Given the description of an element on the screen output the (x, y) to click on. 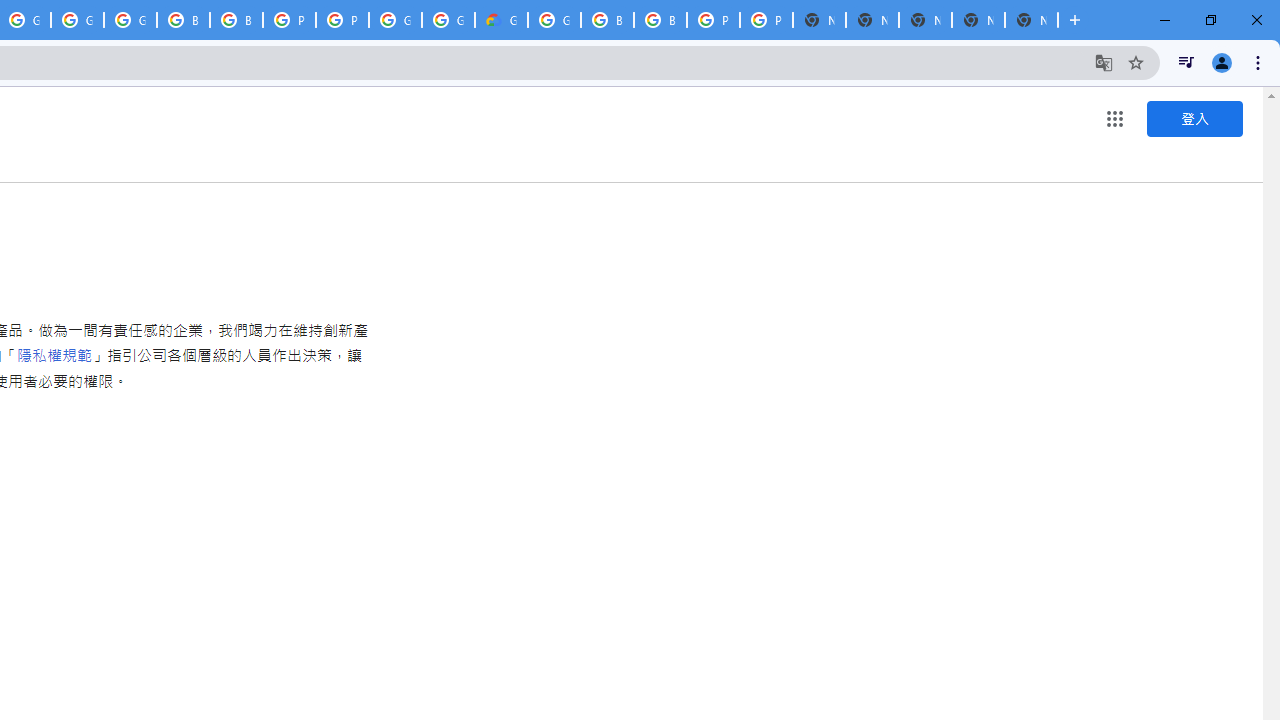
Browse Chrome as a guest - Computer - Google Chrome Help (607, 20)
Google Cloud Platform (395, 20)
